Given the description of an element on the screen output the (x, y) to click on. 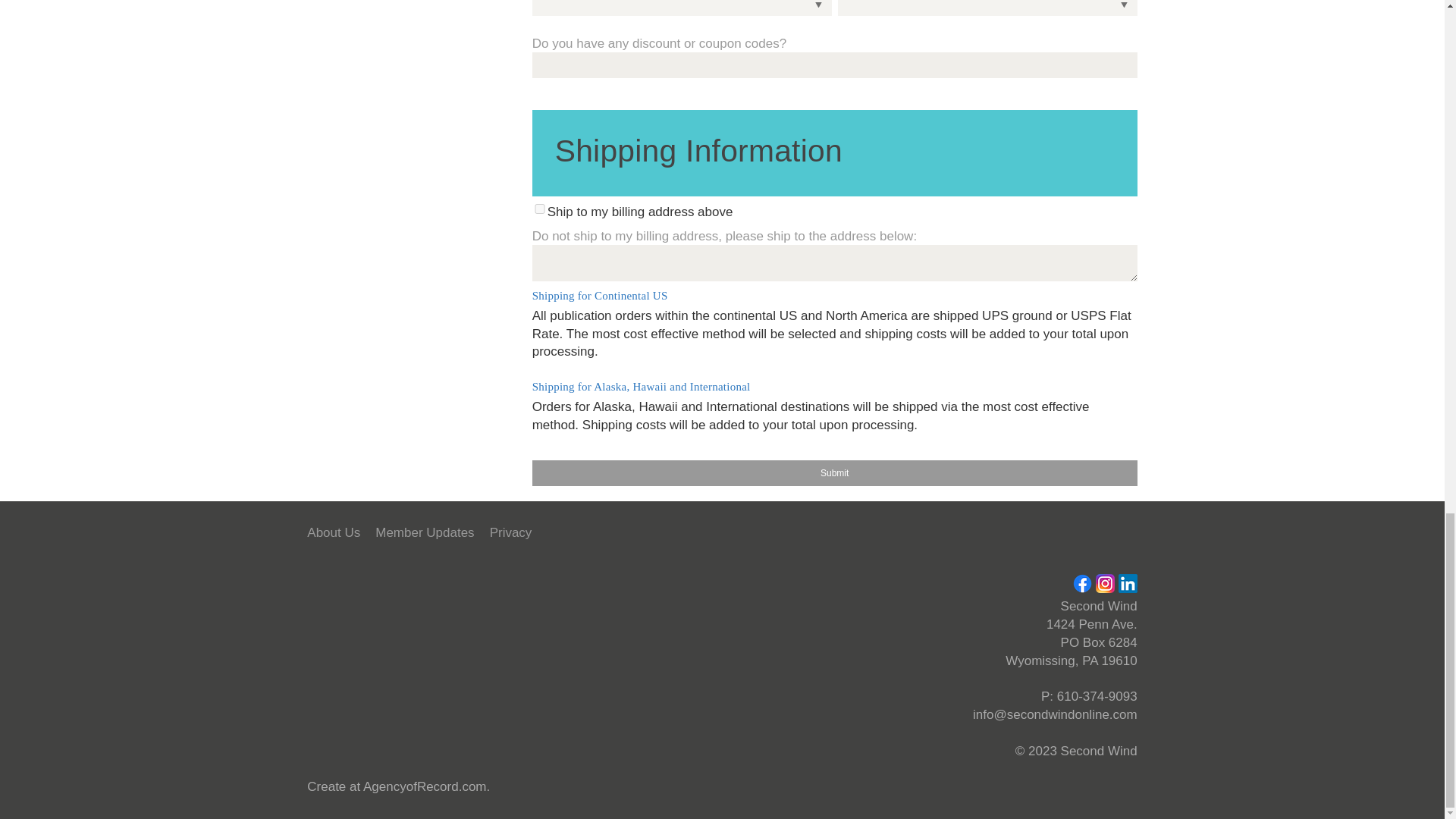
Submit (834, 473)
on (539, 208)
